Given the description of an element on the screen output the (x, y) to click on. 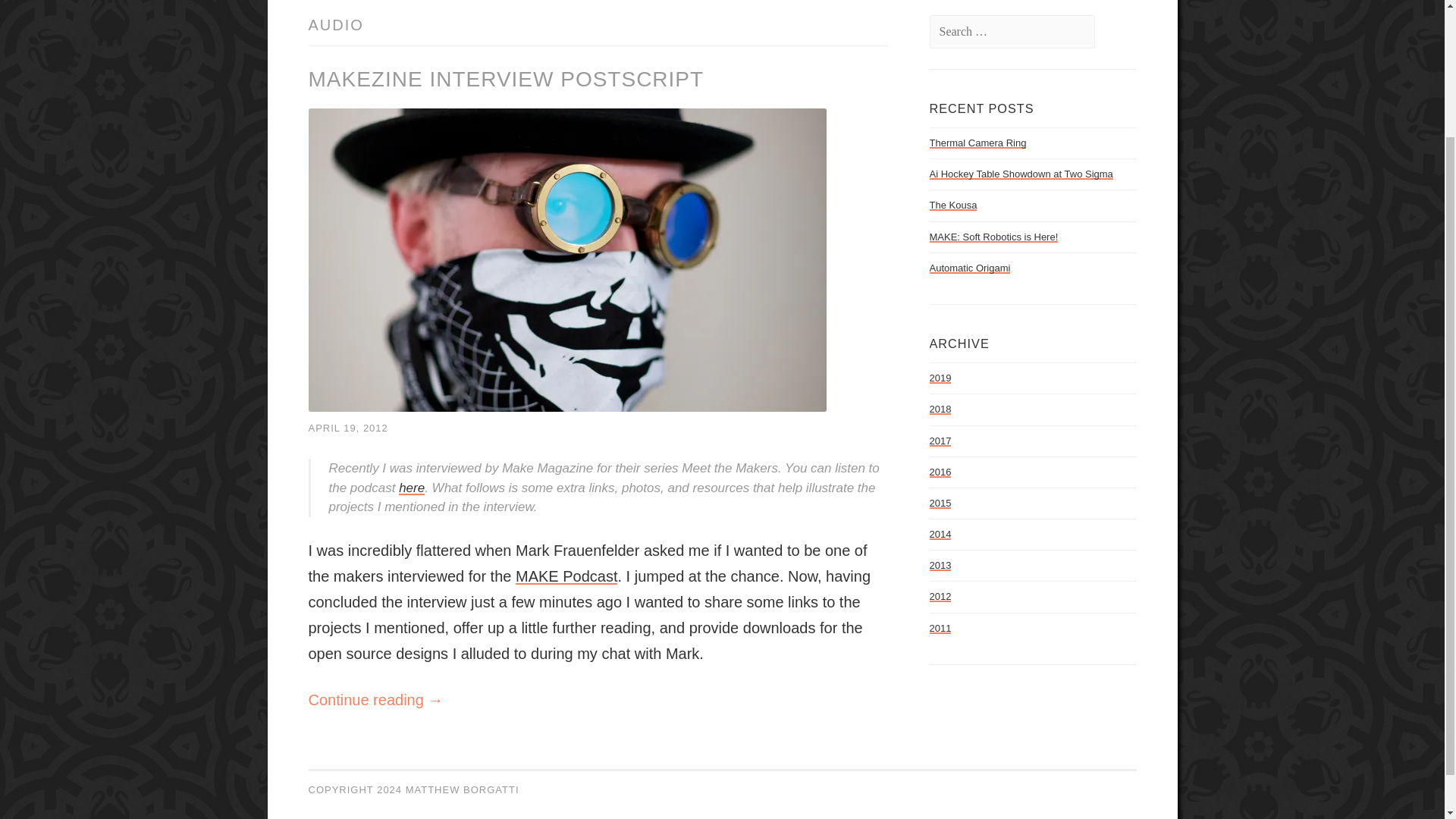
APRIL 19, 2012 (347, 428)
Thermal Camera Ring (978, 142)
2017 (941, 440)
2013 (941, 564)
2019 (941, 378)
2016 (941, 471)
2018 (941, 408)
2011 (941, 627)
The Kousa (953, 204)
MAKEZINE INTERVIEW POSTSCRIPT (505, 78)
Automatic Origami (970, 267)
MAKE: Soft Robotics is Here! (994, 236)
MAKE Podcast (566, 576)
Ai Hockey Table Showdown at Two Sigma (1021, 173)
2015 (941, 502)
